Given the description of an element on the screen output the (x, y) to click on. 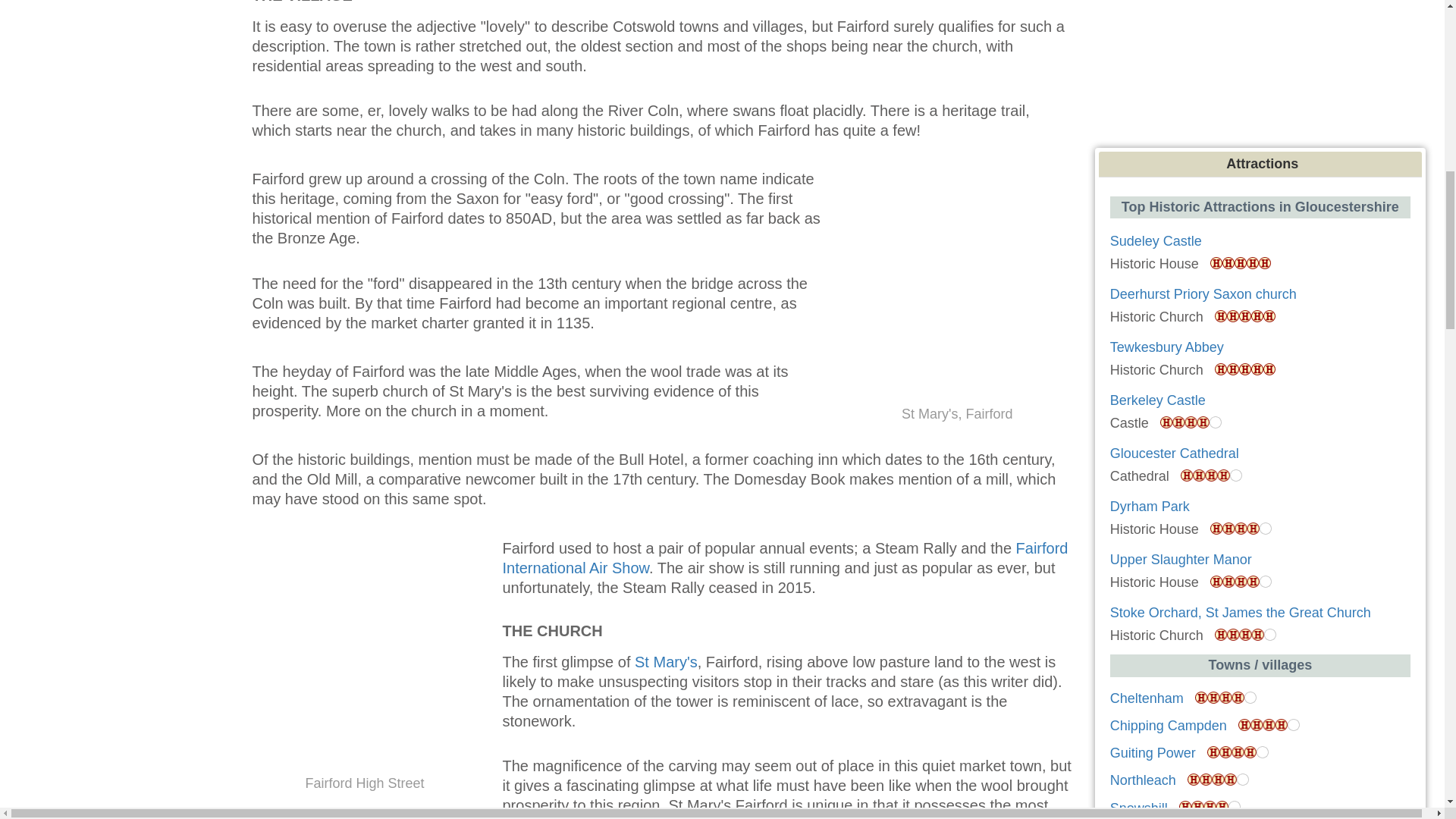
Advertisement (1263, 70)
Fairford International Air Show (784, 557)
Advertisement (119, 110)
Fairford, St Mary's church (665, 661)
